Given the description of an element on the screen output the (x, y) to click on. 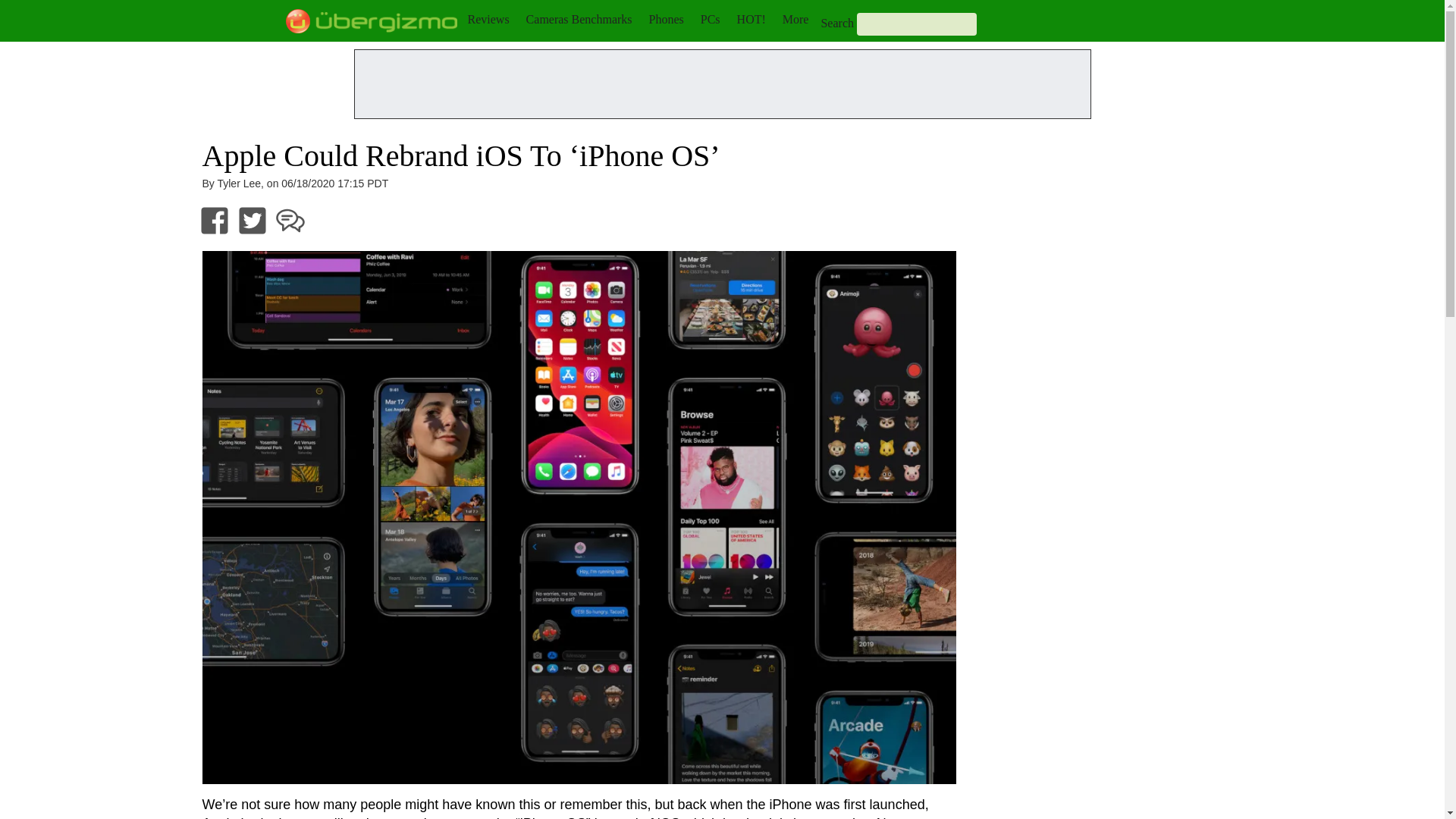
PCs (710, 19)
Phones (666, 19)
Cameras Benchmarks (578, 19)
Reviews (487, 19)
